Given the description of an element on the screen output the (x, y) to click on. 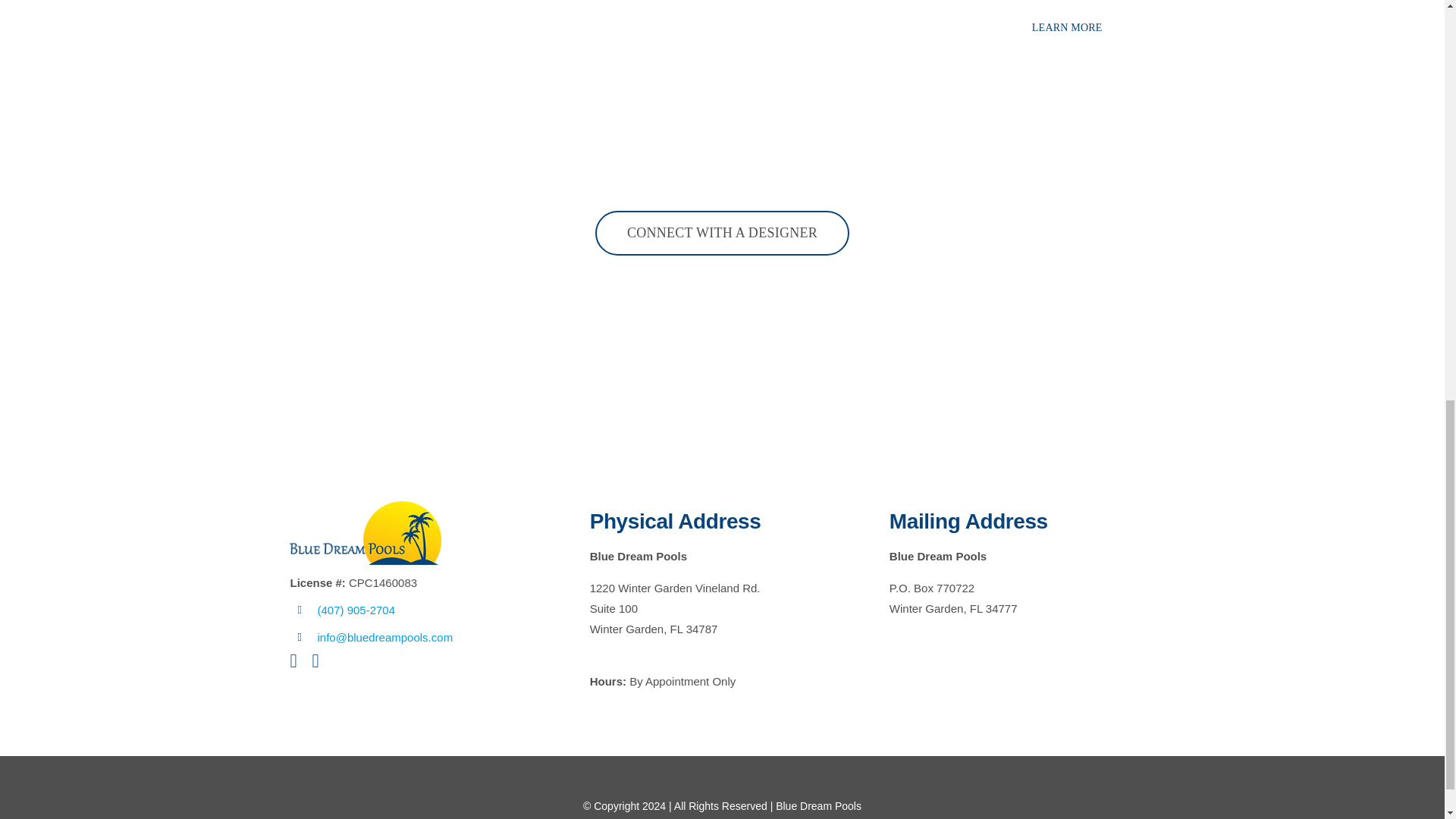
LEARN MORE (1067, 27)
Connect With A Designer (721, 232)
WebsiteLogo (365, 533)
CONNECT WITH A DESIGNER (721, 232)
